Given the description of an element on the screen output the (x, y) to click on. 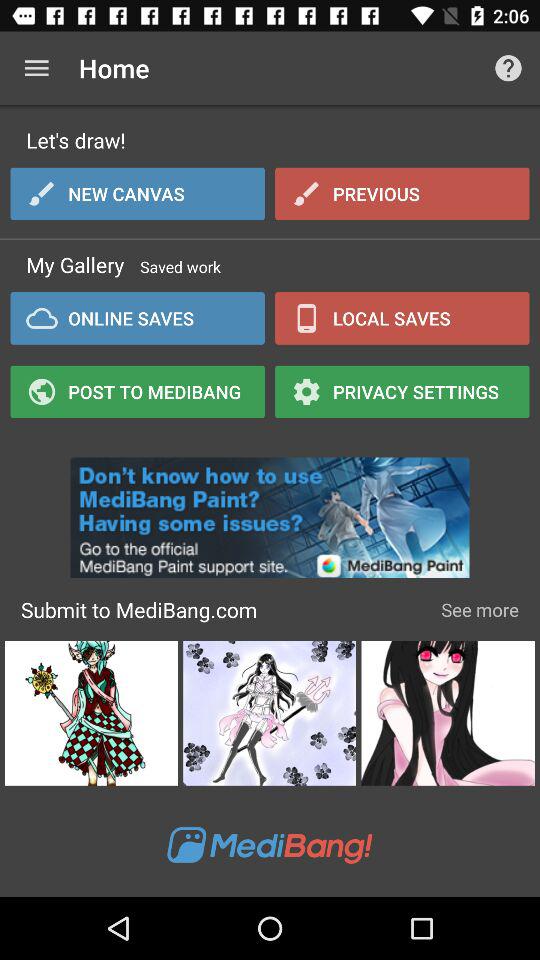
press icon below let's draw! item (137, 193)
